Given the description of an element on the screen output the (x, y) to click on. 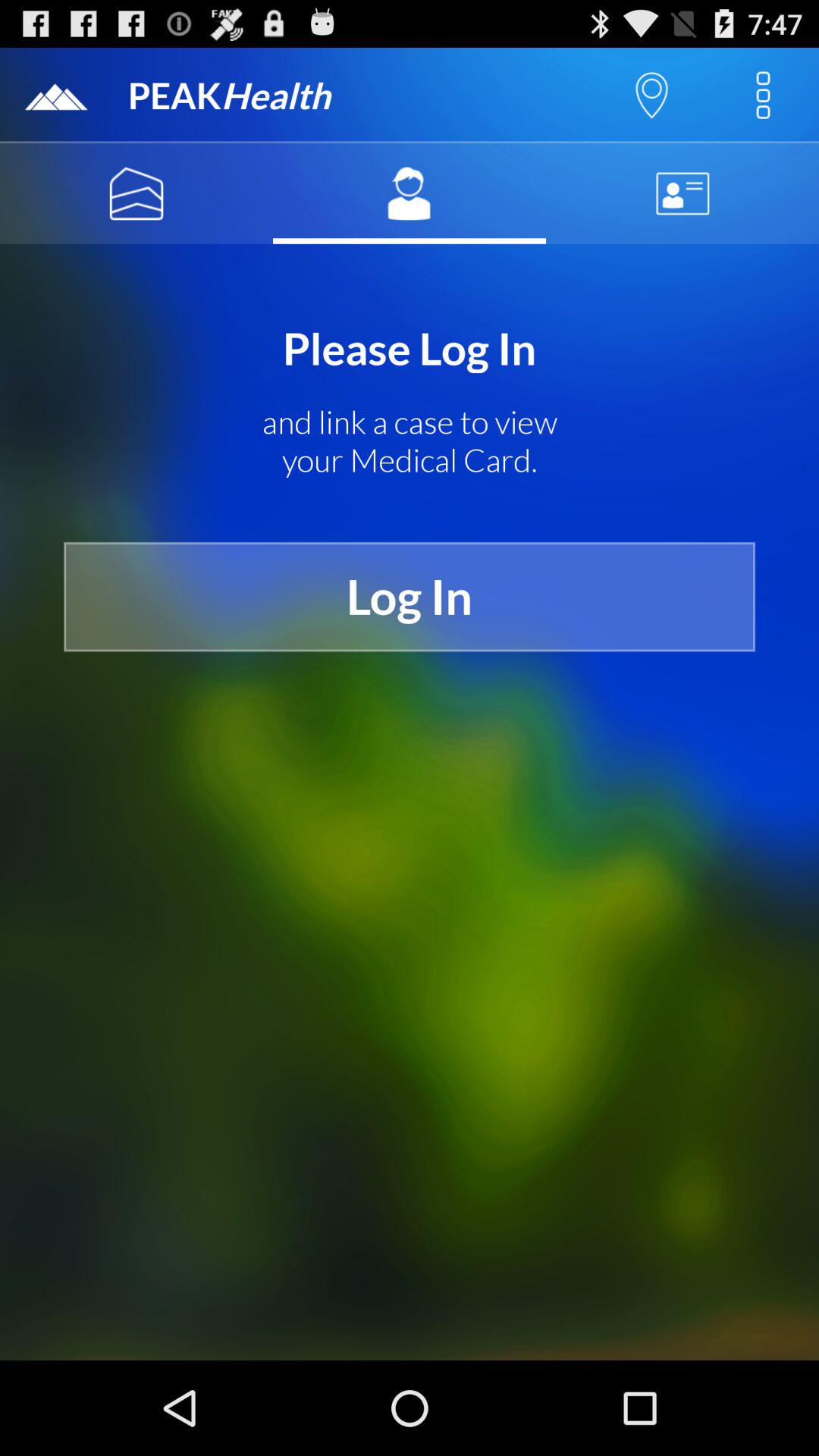
tap for personal login (409, 193)
